Given the description of an element on the screen output the (x, y) to click on. 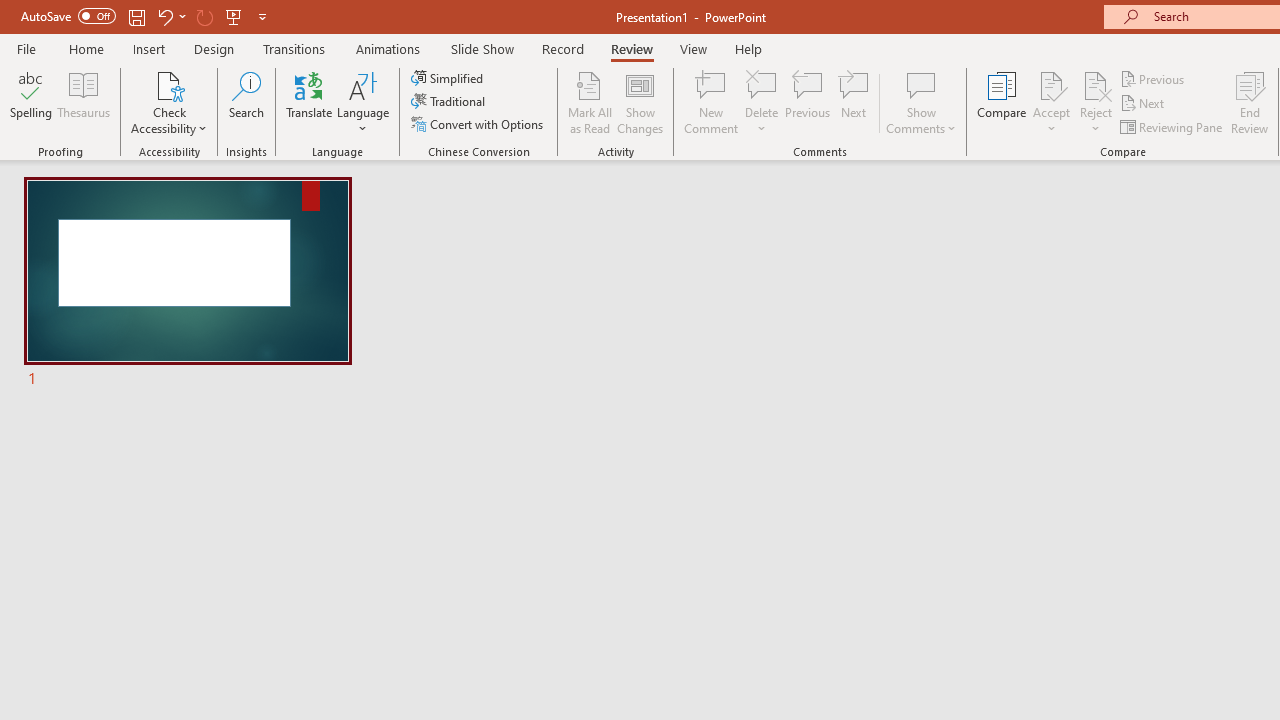
Show Comments (921, 102)
Accept Change (1051, 84)
Convert with Options... (479, 124)
Translate (309, 102)
End Review (1249, 102)
Check Accessibility (169, 102)
Reviewing Pane (1172, 126)
Language (363, 102)
Check Accessibility (169, 84)
Spelling... (31, 102)
Delete (762, 102)
